Given the description of an element on the screen output the (x, y) to click on. 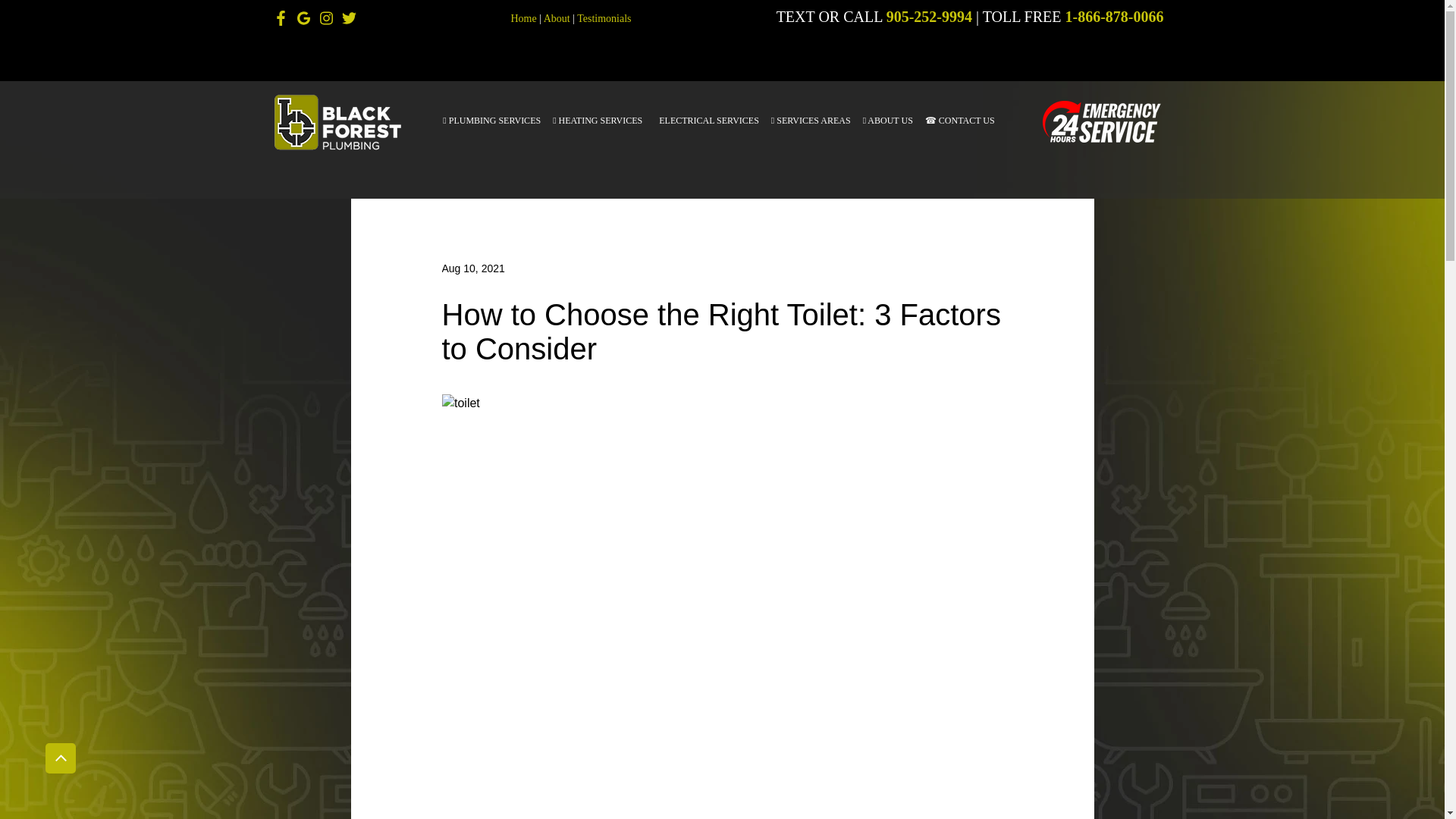
About (556, 19)
Testimonials (603, 19)
Aug 10, 2021 (472, 268)
Home (523, 19)
1-866-878-0066 (1114, 19)
905-252-9994 (929, 19)
